Given the description of an element on the screen output the (x, y) to click on. 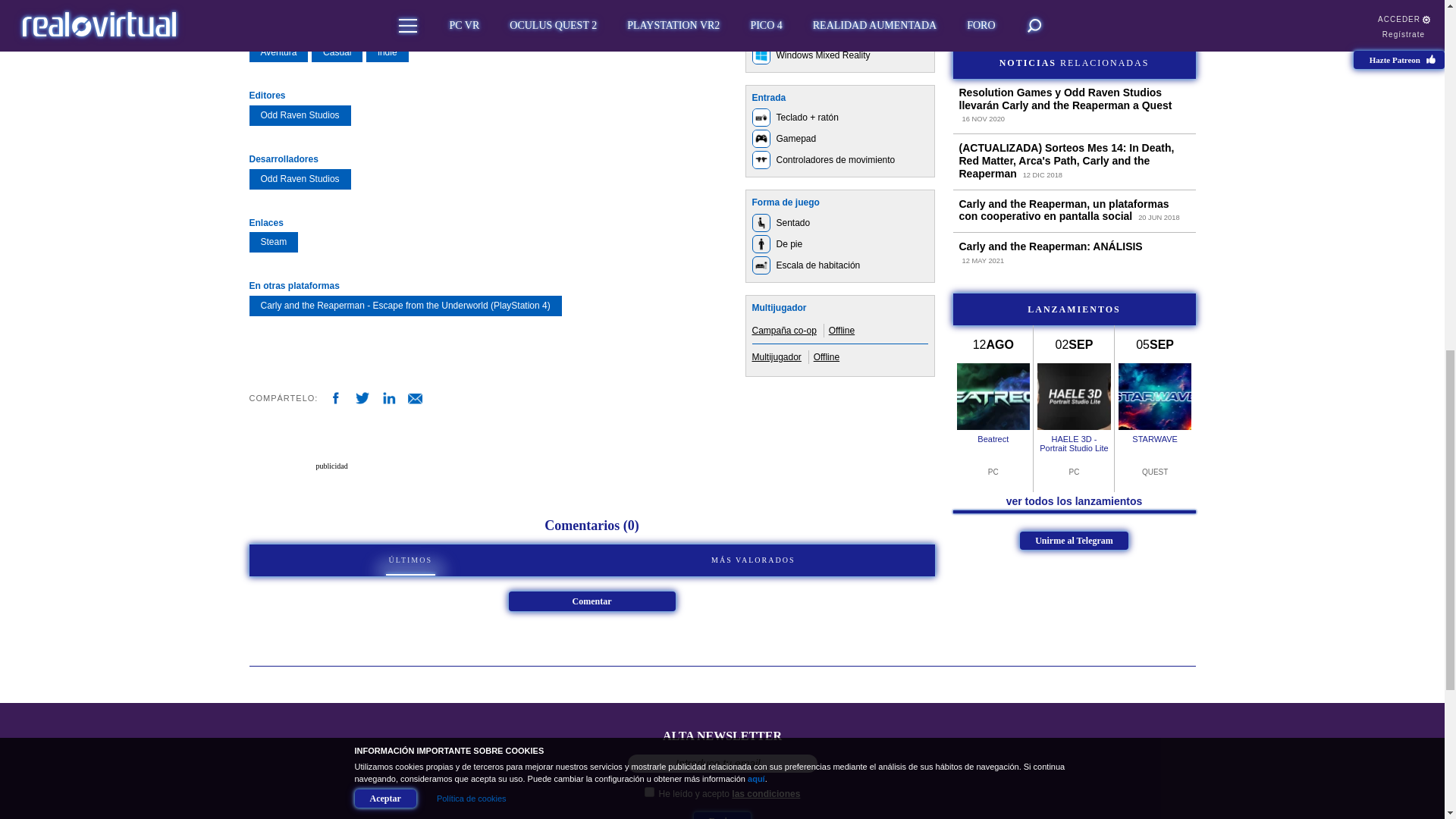
1 (649, 791)
Oculus (761, 13)
Touch motion controller (761, 159)
Advertisement (1073, 8)
Windows Mixed Reality (761, 54)
HTC Vive (761, 34)
Gamepad (761, 138)
